Given the description of an element on the screen output the (x, y) to click on. 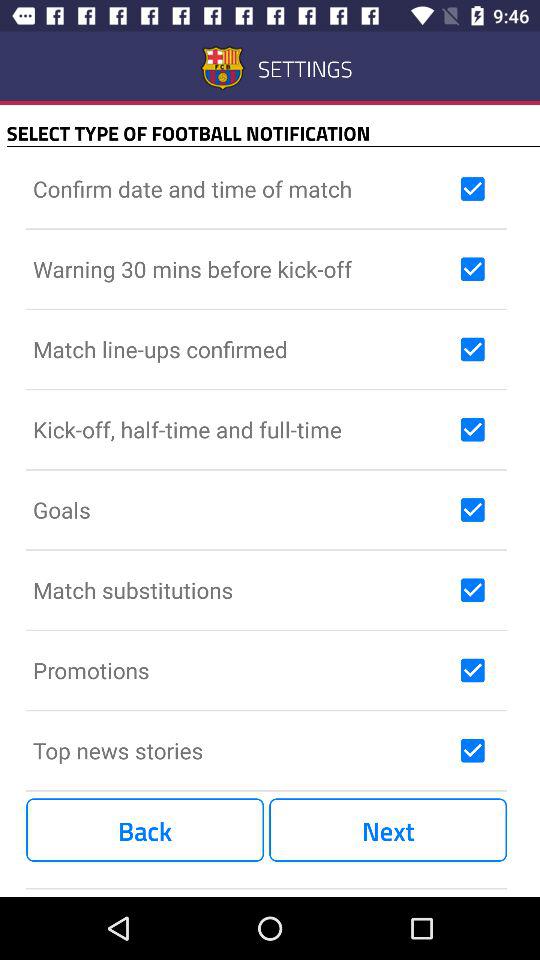
swipe to the next item (388, 829)
